Given the description of an element on the screen output the (x, y) to click on. 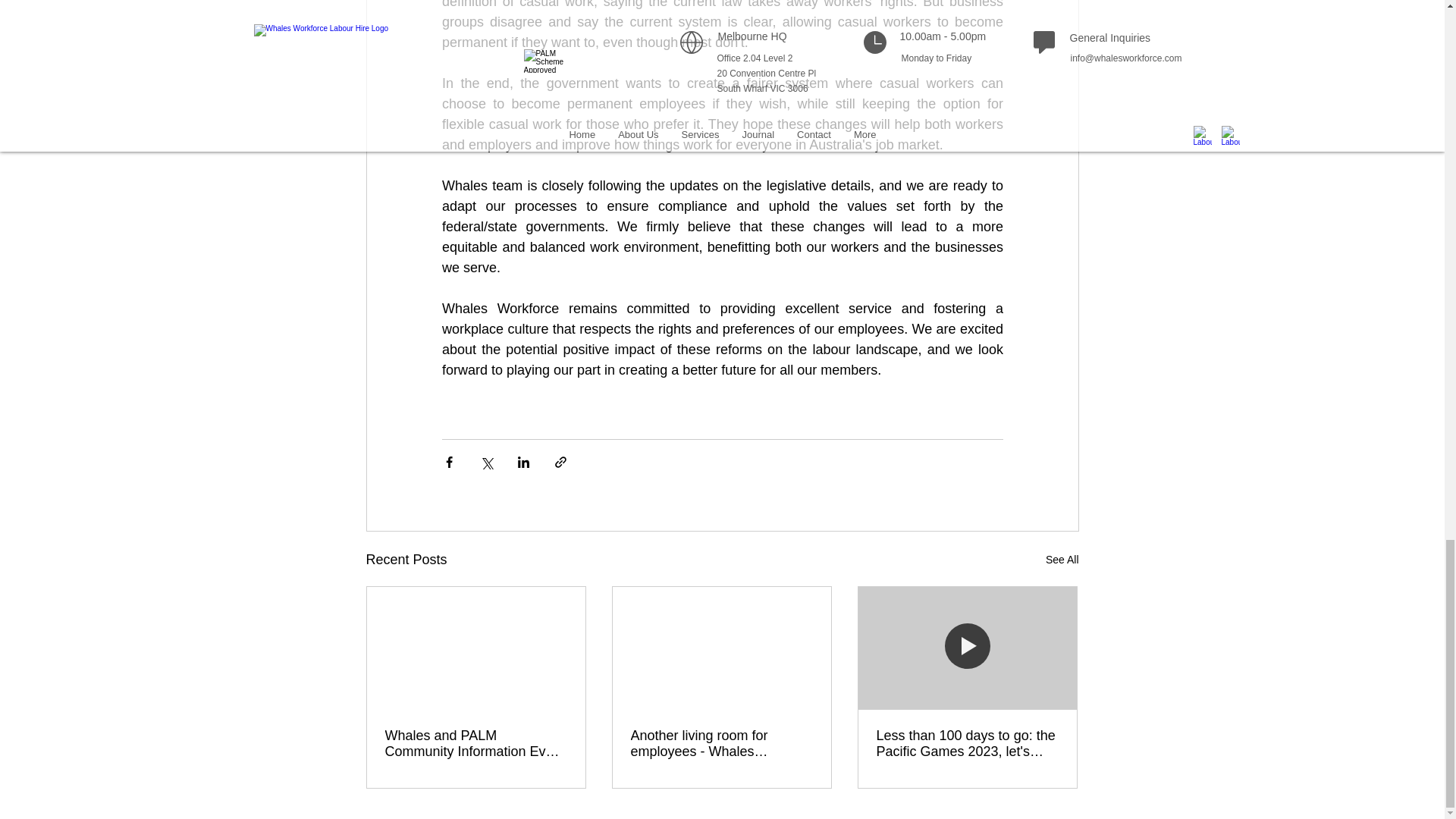
Whales and PALM Community Information Event in Victoria. (476, 744)
See All (1061, 559)
